Given the description of an element on the screen output the (x, y) to click on. 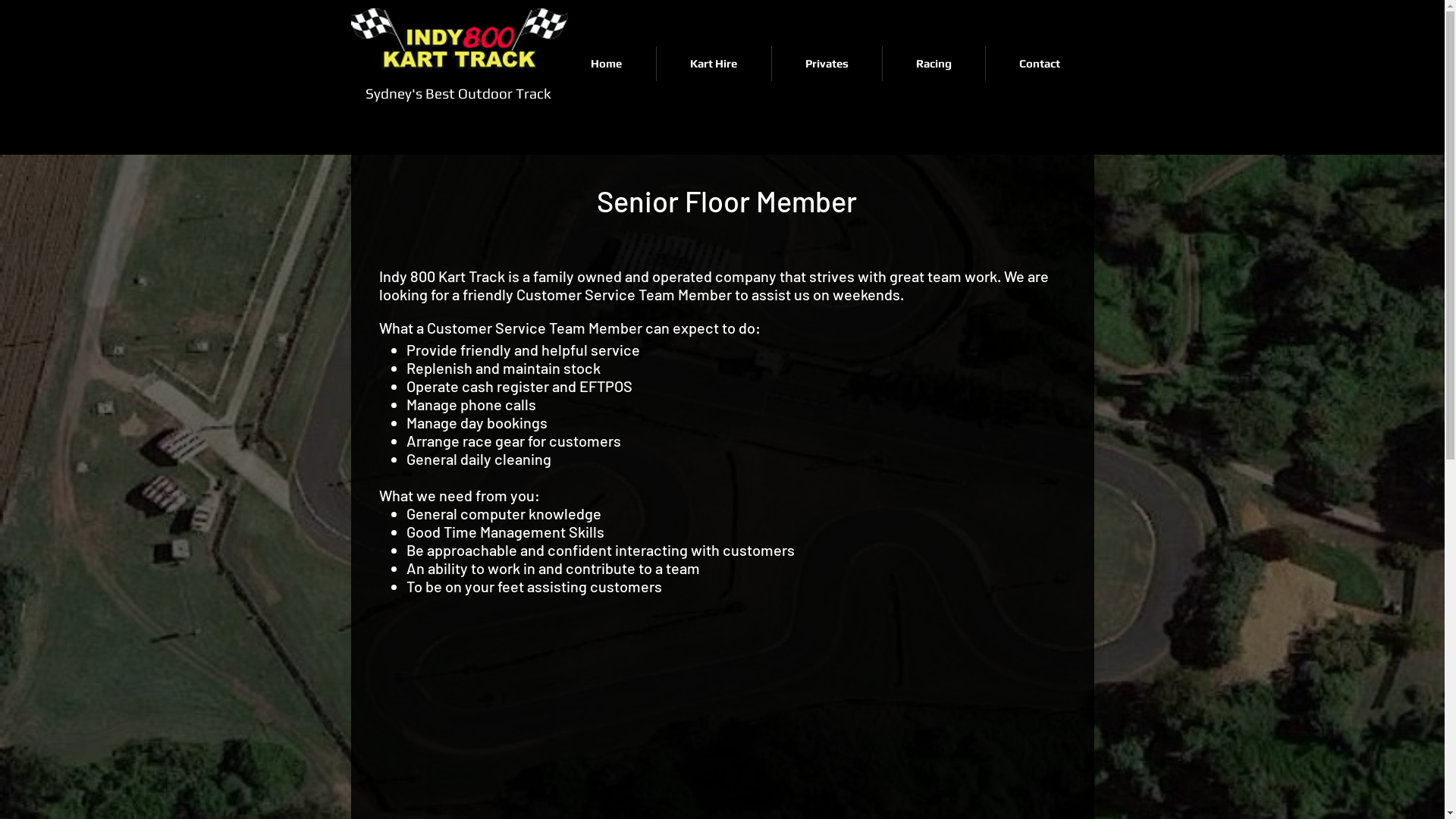
Embedded Content Element type: hover (1192, 63)
Kart Hire Element type: text (713, 63)
Contact Element type: text (1039, 63)
Racing Element type: text (933, 63)
Home Element type: text (605, 63)
Privates Element type: text (826, 63)
logo.png Element type: hover (458, 41)
